Given the description of an element on the screen output the (x, y) to click on. 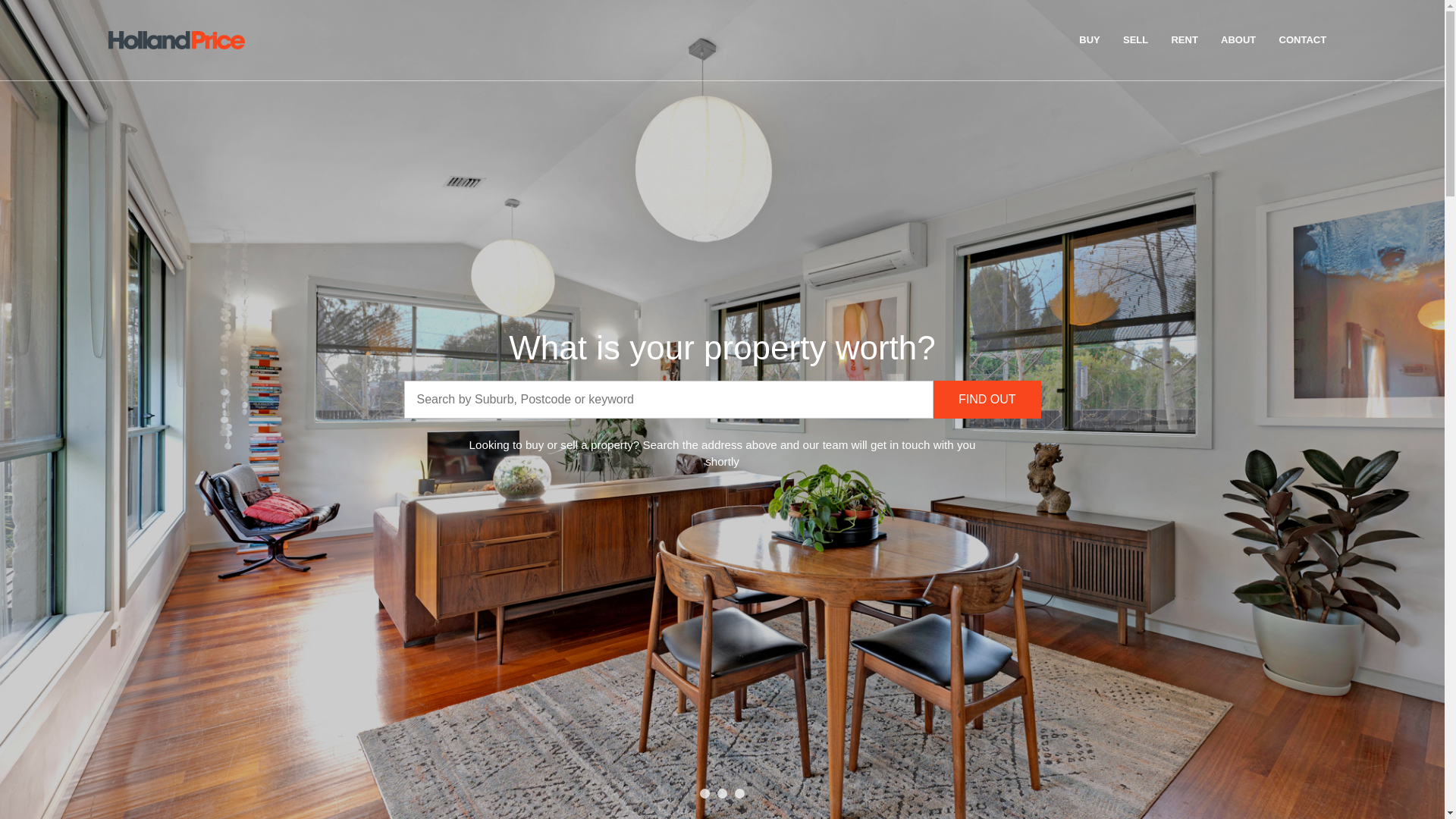
RENT Element type: text (1184, 40)
FIND OUT Element type: text (987, 399)
ABOUT Element type: text (1238, 40)
BUY Element type: text (1089, 40)
SELL Element type: text (1135, 40)
CONTACT Element type: text (1302, 40)
